Given the description of an element on the screen output the (x, y) to click on. 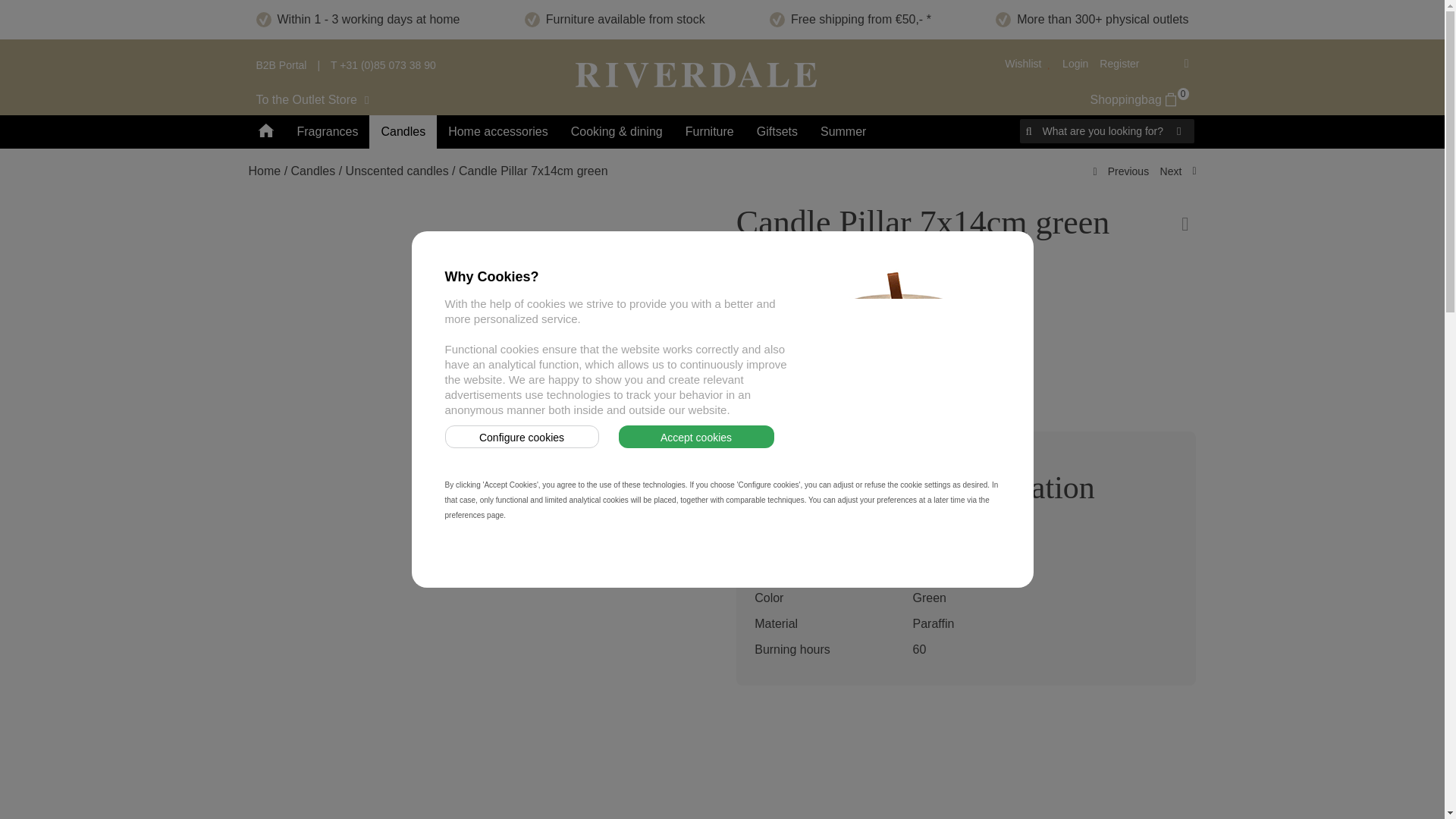
Home accessories (497, 131)
Add to shoppingbag (809, 368)
Fragrances (1140, 98)
Home accessories (327, 131)
Giftsets (497, 131)
Summer (777, 131)
Furniture (843, 131)
B2B Portal (709, 131)
Search (281, 64)
Candles (1180, 130)
Call us! (402, 131)
To the Outlet Store (382, 64)
Summer (320, 99)
Home (843, 131)
